Given the description of an element on the screen output the (x, y) to click on. 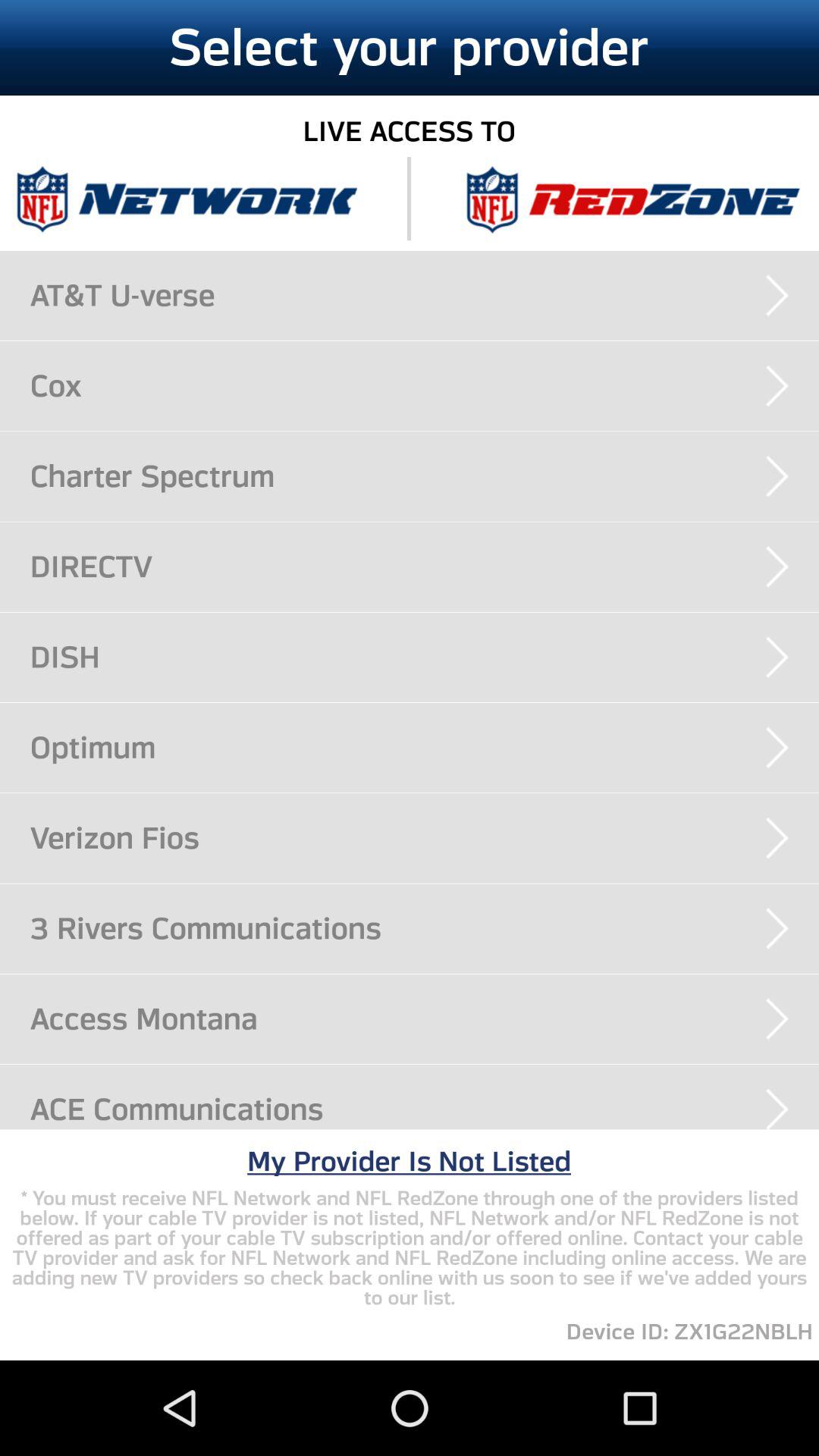
turn on the access montana (424, 1018)
